Given the description of an element on the screen output the (x, y) to click on. 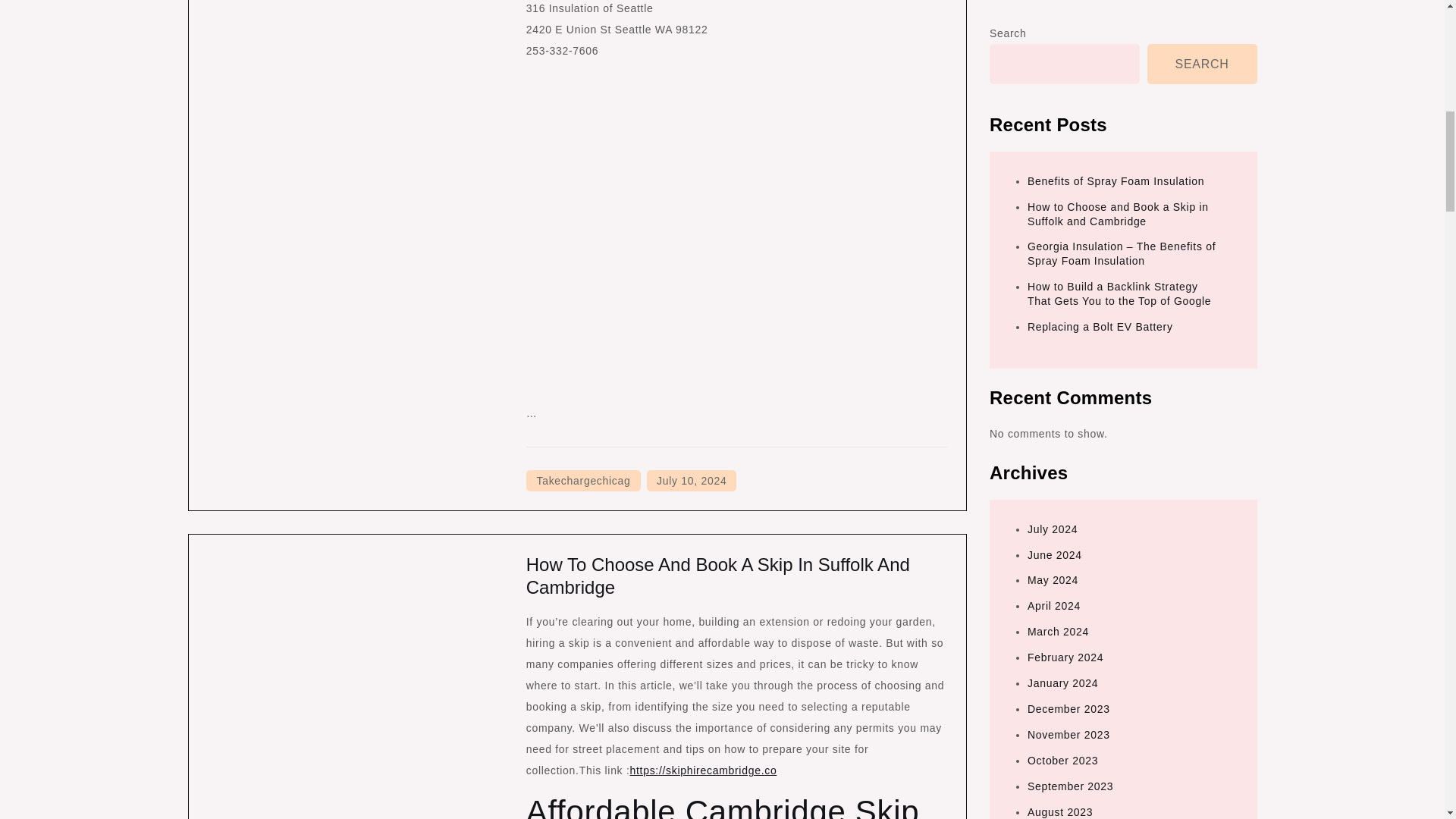
Takechargechicag (582, 480)
How To Choose And Book A Skip In Suffolk And Cambridge (717, 575)
July 10, 2024 (691, 480)
